Given the description of an element on the screen output the (x, y) to click on. 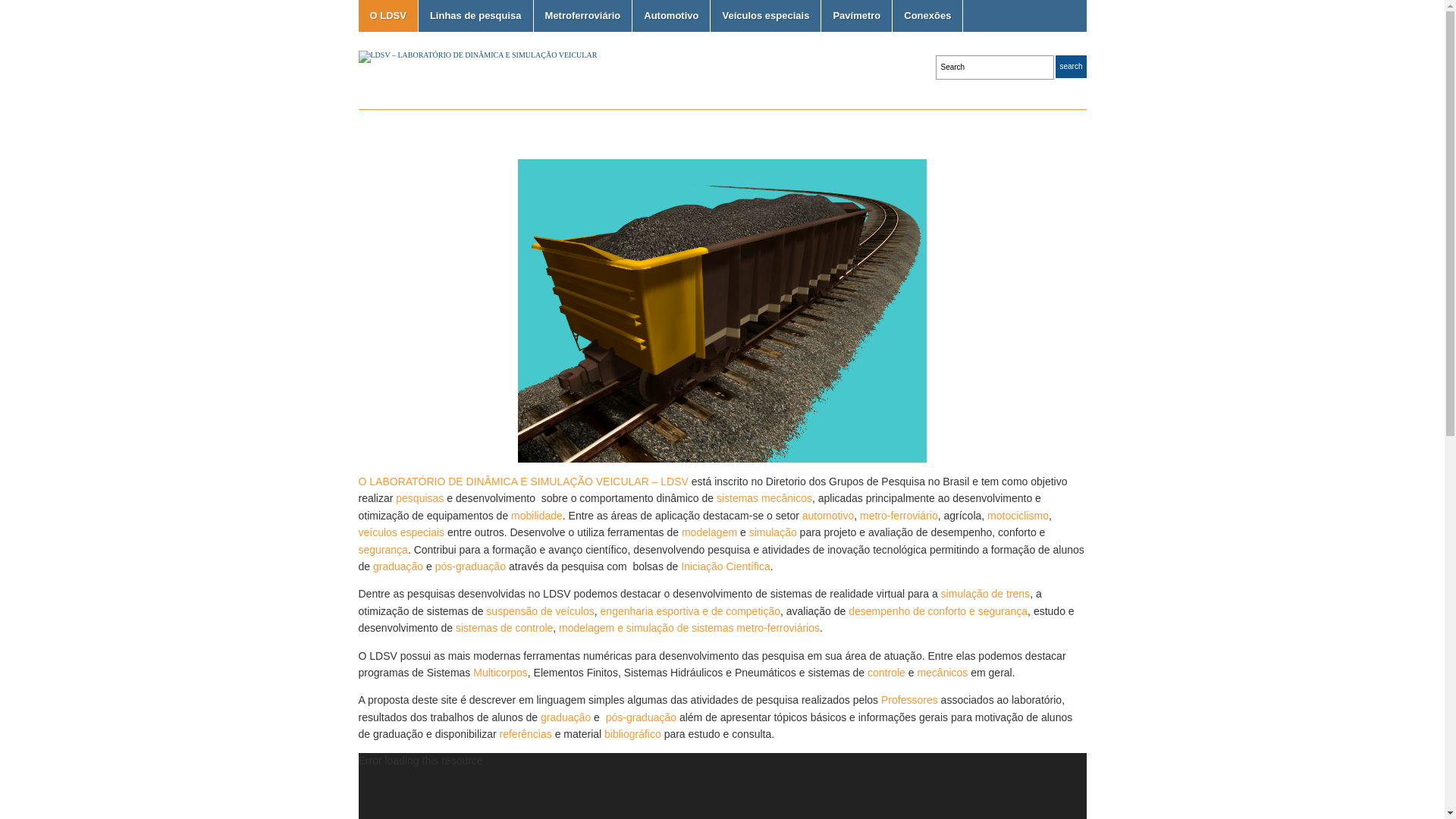
pesquisas Element type: text (419, 498)
modelagem Element type: text (709, 532)
motociclismo Element type: text (1017, 515)
Search Element type: text (1070, 66)
automotivo Element type: text (827, 515)
controle Element type: text (886, 672)
mobilidade Element type: text (536, 515)
Multicorpos Element type: text (500, 672)
Just another WordPress site Element type: hover (476, 54)
O LDSV Element type: text (387, 15)
sistemas de controle Element type: text (503, 627)
Linhas de pesquisa Element type: text (475, 15)
Professores Element type: text (909, 699)
Automotivo Element type: text (670, 15)
